Given the description of an element on the screen output the (x, y) to click on. 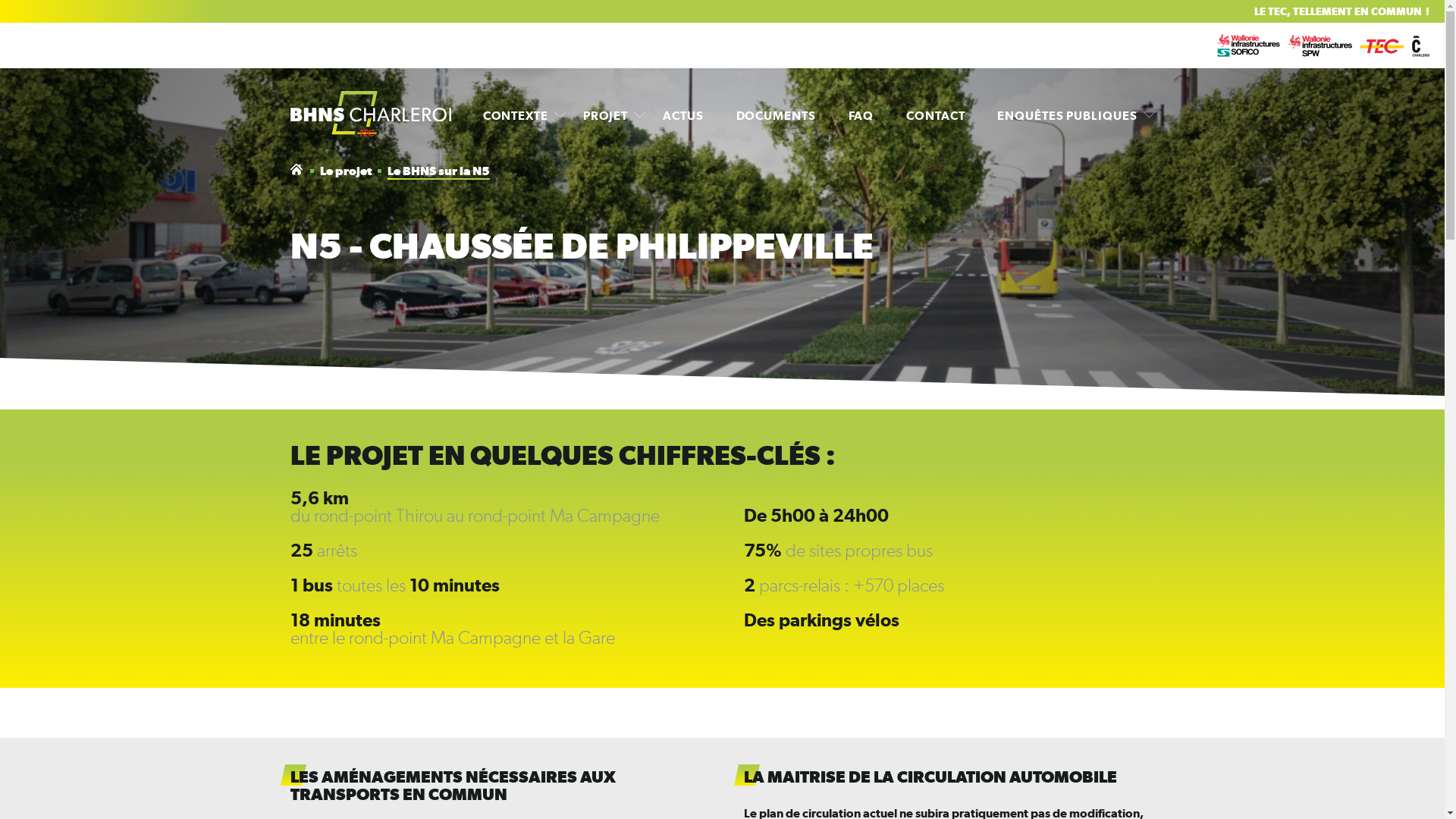
CONTACT Element type: text (935, 115)
Vers le site Charleroi Element type: text (1420, 45)
DOCUMENTS Element type: text (776, 115)
PROJET Element type: text (605, 115)
Le BHNS sur la N5 Element type: text (437, 171)
Vers le site Sofico Element type: text (1248, 45)
Vers le site SPW Element type: text (1319, 45)
ACTUS Element type: text (682, 115)
CONTEXTE Element type: text (515, 115)
FAQ Element type: text (861, 115)
Logo du site Element type: text (369, 114)
Vers le site TEC Element type: text (1381, 45)
Le projet Element type: text (346, 170)
BHNS Element type: text (297, 170)
